Given the description of an element on the screen output the (x, y) to click on. 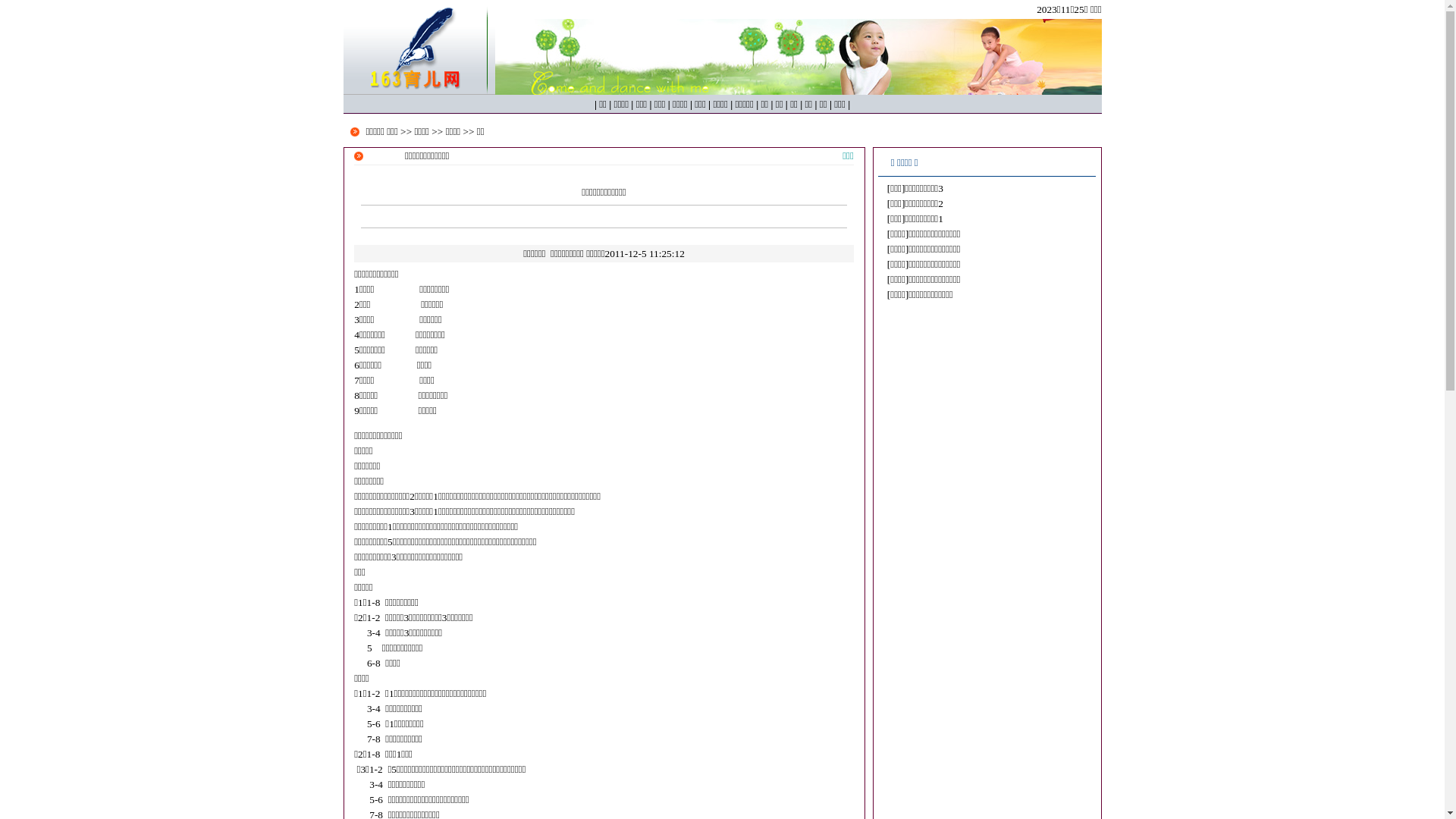
Advertisement Element type: hover (987, 408)
Advertisement Element type: hover (987, 613)
